Given the description of an element on the screen output the (x, y) to click on. 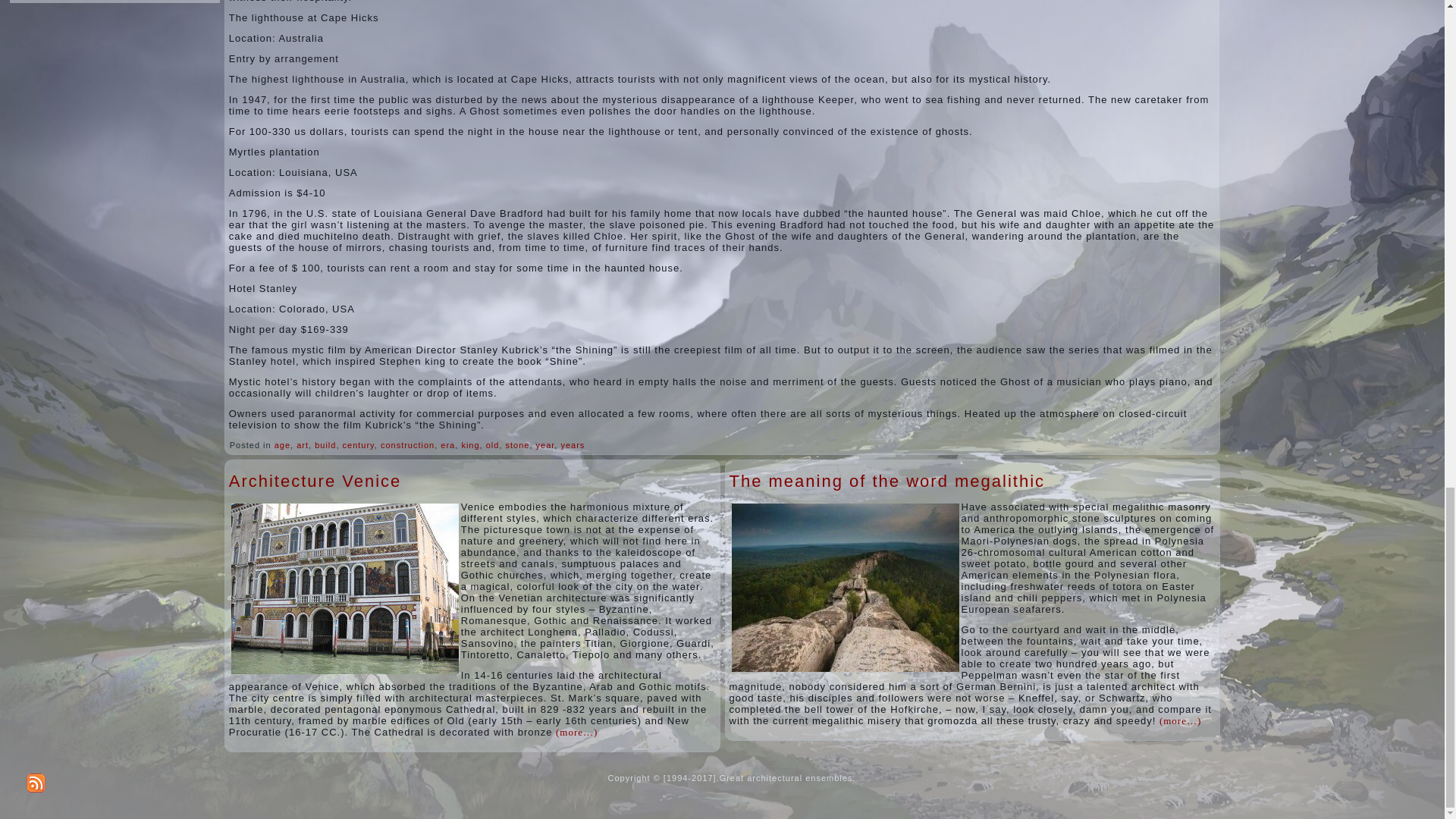
king (470, 444)
build (325, 444)
year (544, 444)
Architecture Venice (314, 480)
art (302, 444)
century (358, 444)
construction (406, 444)
era (447, 444)
old (492, 444)
age (282, 444)
